Given the description of an element on the screen output the (x, y) to click on. 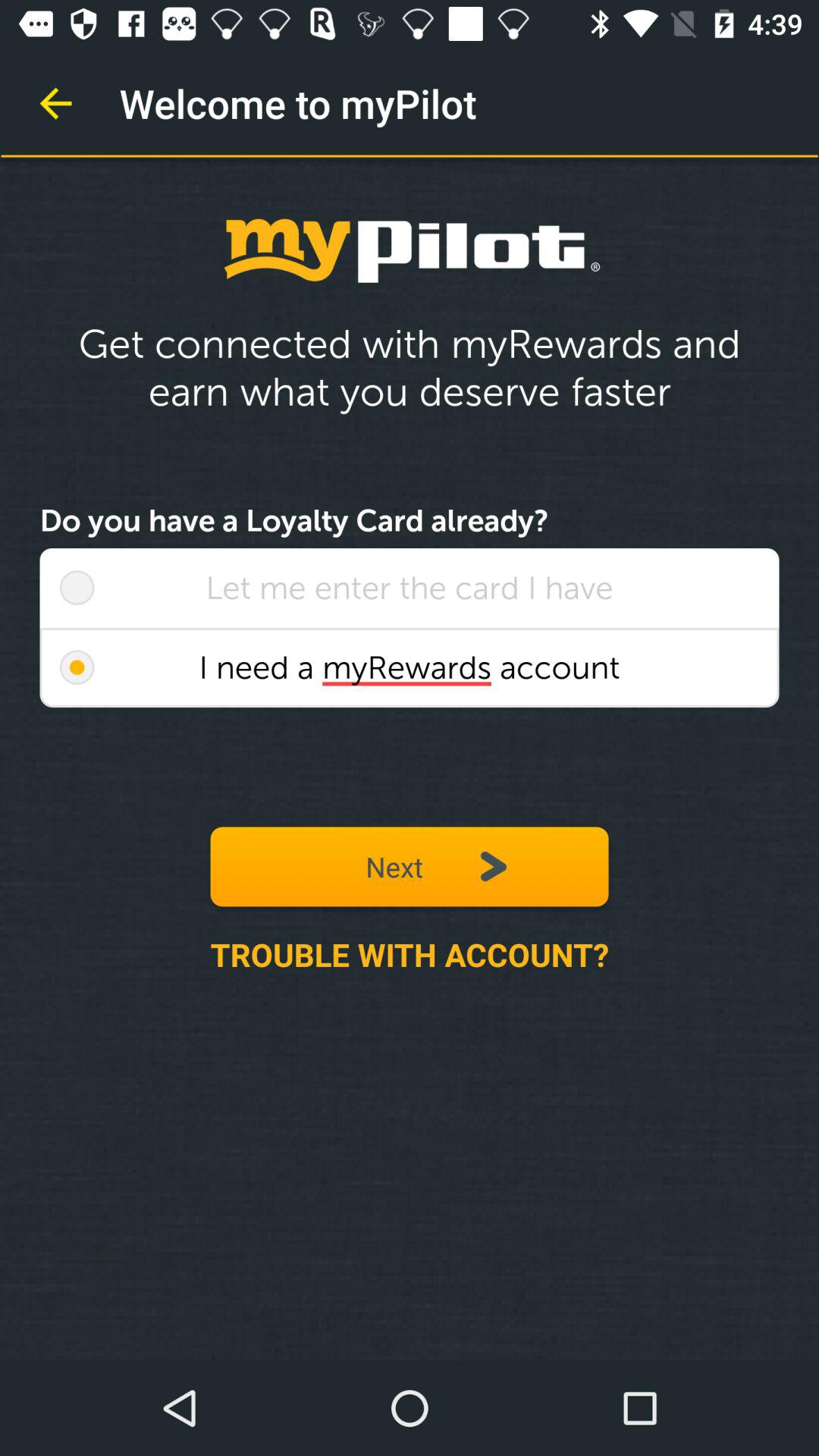
launch trouble with account? item (409, 954)
